Given the description of an element on the screen output the (x, y) to click on. 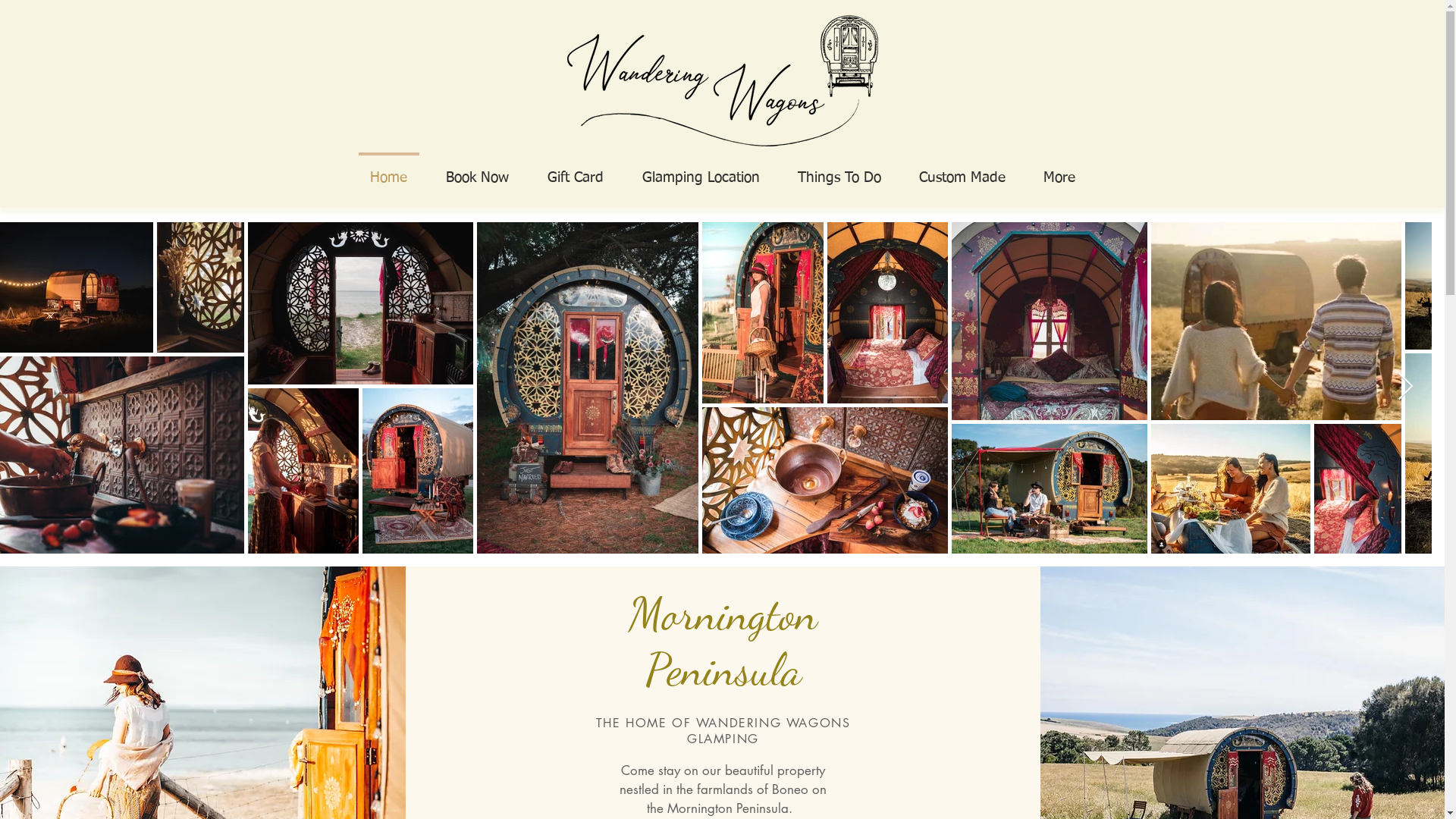
Custom Made Element type: text (961, 171)
Things To Do Element type: text (838, 171)
Home Element type: text (388, 171)
Glamping Location Element type: text (700, 171)
Gift Card Element type: text (574, 171)
Book Now Element type: text (476, 171)
